Given the description of an element on the screen output the (x, y) to click on. 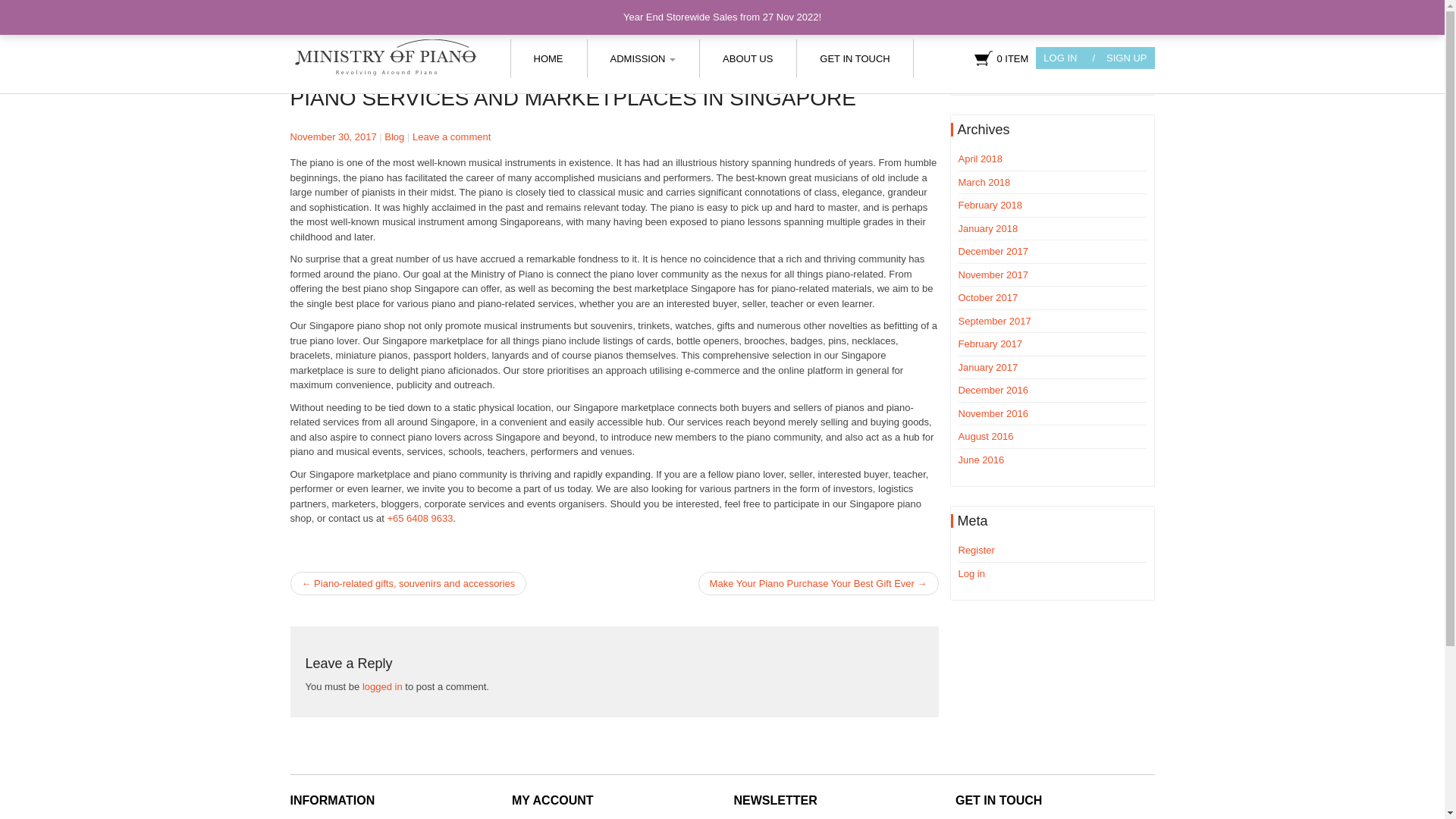
Home (547, 58)
November 2017 (993, 274)
February 2018 (990, 204)
3:21 pm (332, 136)
About Us (747, 58)
Search (1119, 73)
GET IN TOUCH (854, 58)
ADMISSION (642, 58)
SIGN UP (1119, 57)
Ministry of Piano (384, 57)
0 ITEM (1000, 58)
Get In Touch (854, 58)
Blog (394, 136)
August 2016 (985, 436)
June 2016 (981, 459)
